Given the description of an element on the screen output the (x, y) to click on. 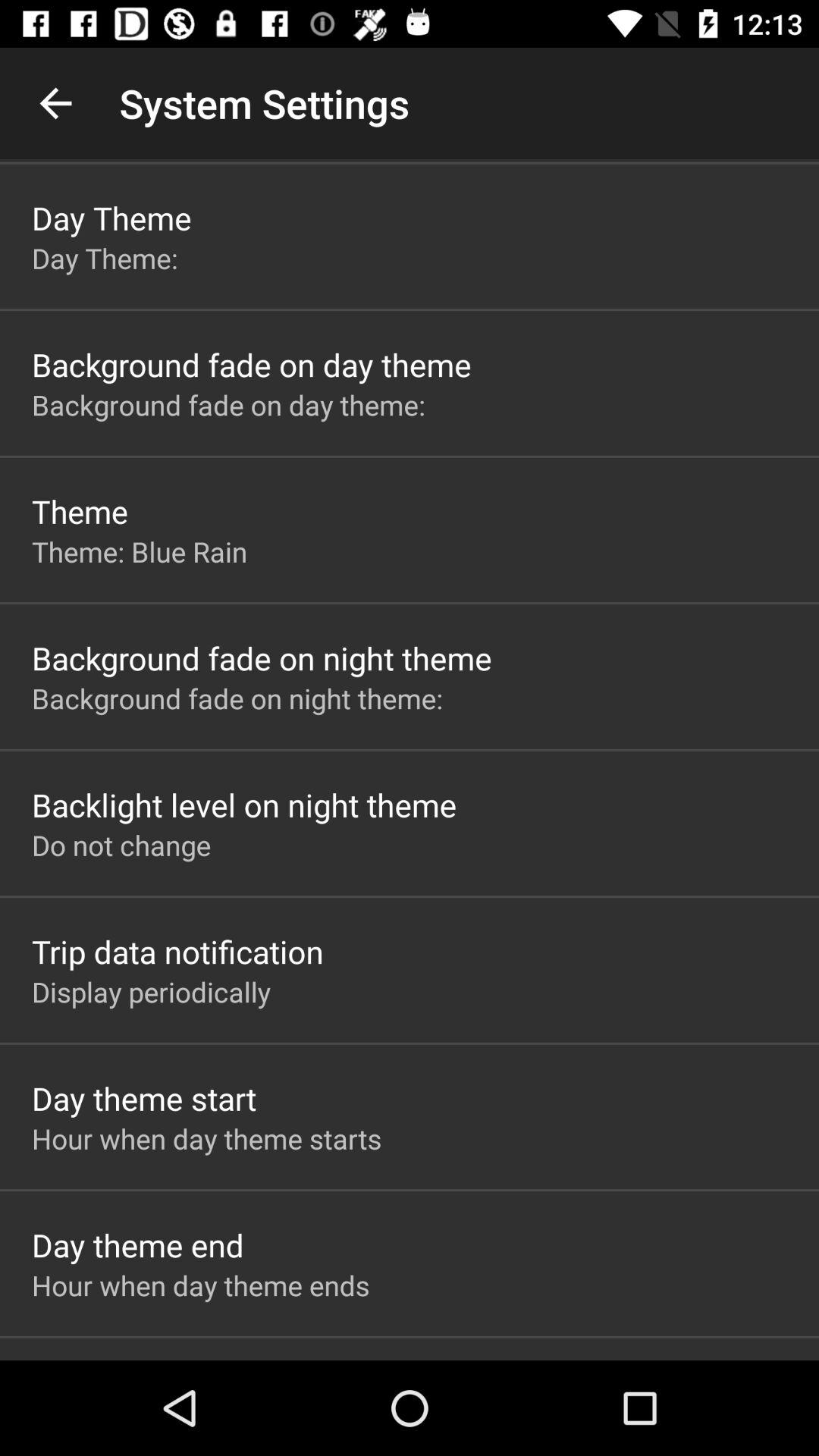
turn on trip data notification (177, 951)
